Given the description of an element on the screen output the (x, y) to click on. 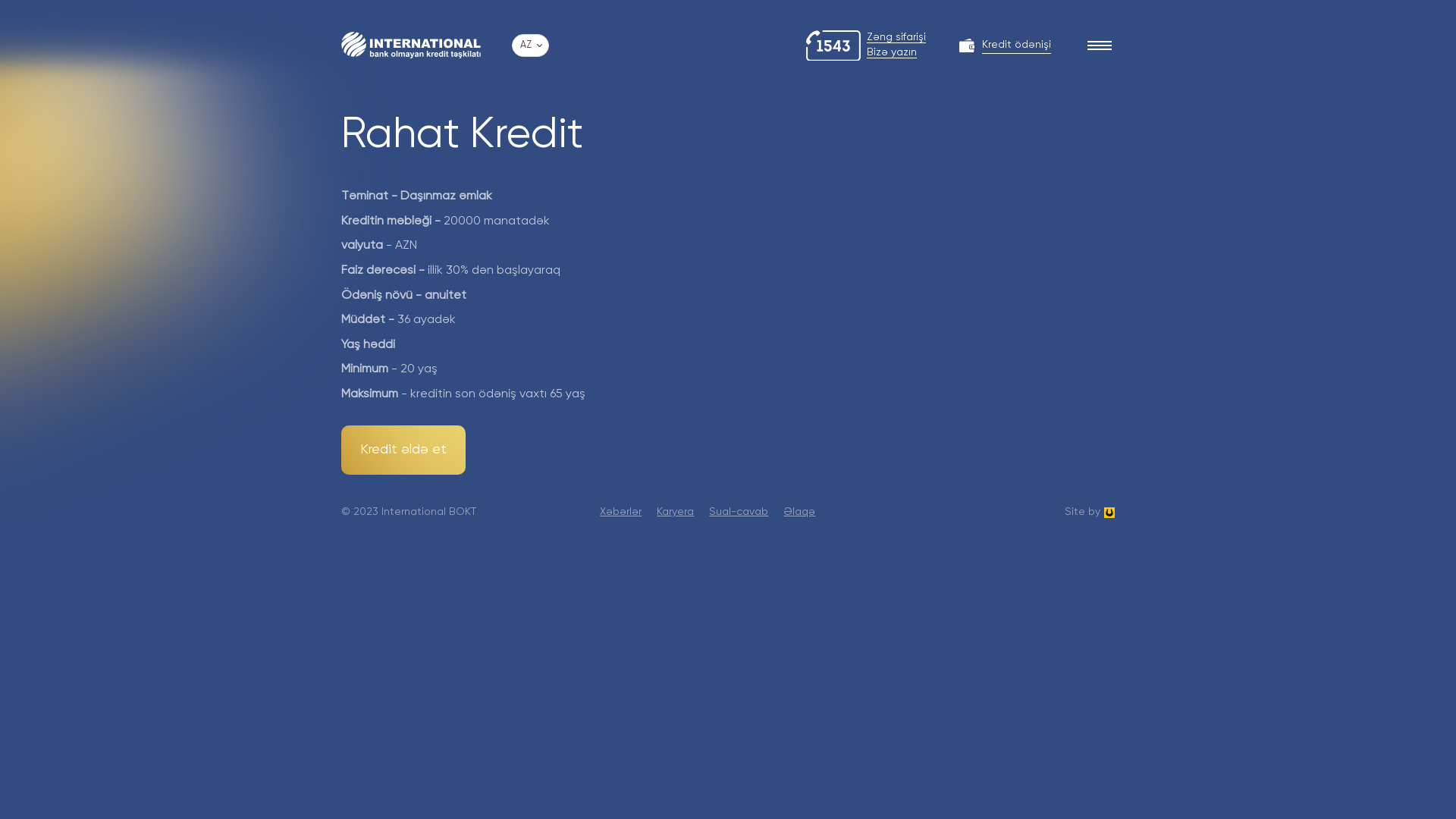
Karyera Element type: text (674, 511)
AZ Element type: text (530, 45)
Sual-cavab Element type: text (738, 511)
Site by Element type: text (1089, 512)
